Given the description of an element on the screen output the (x, y) to click on. 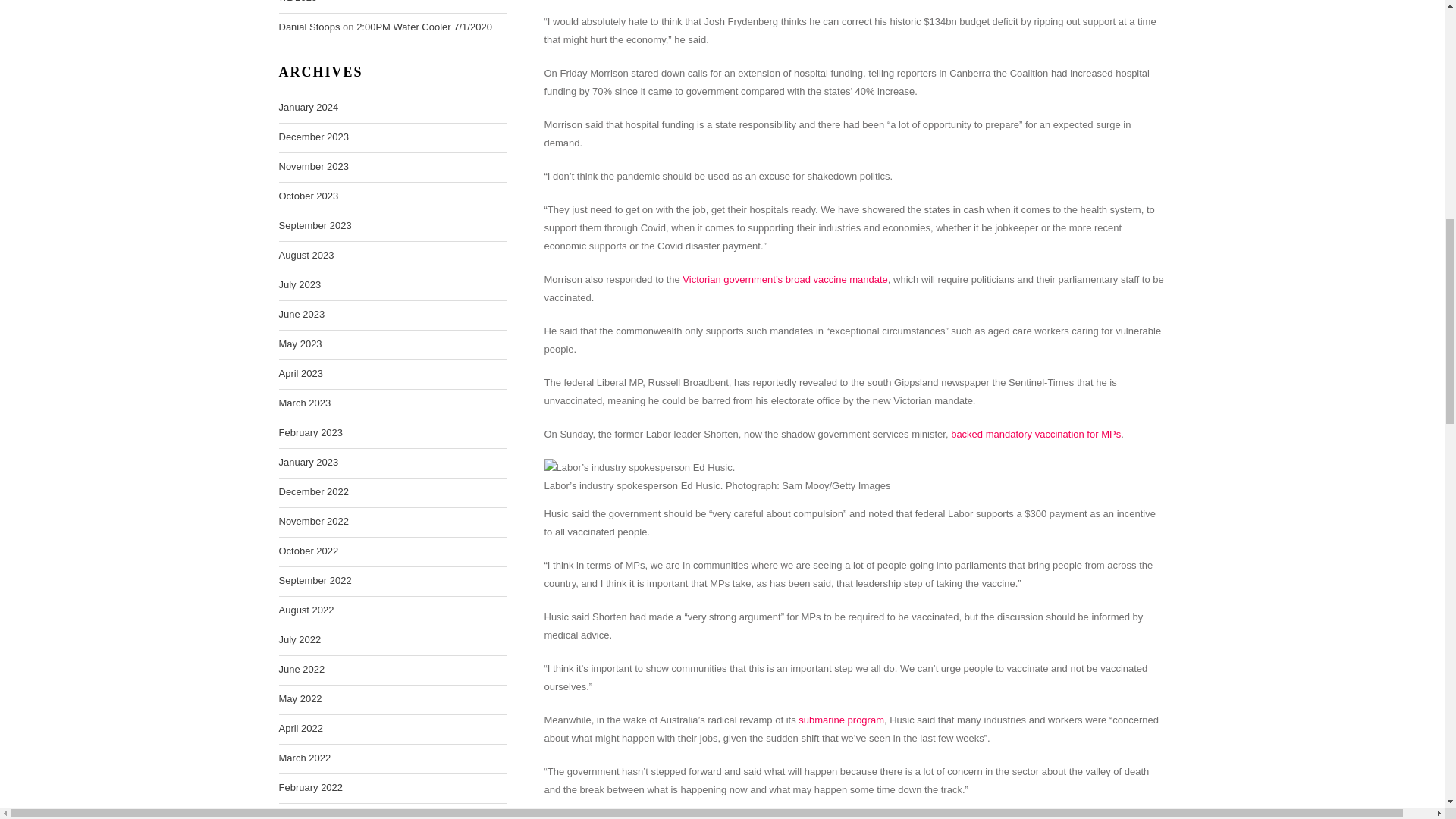
November 2023 (314, 167)
December 2023 (314, 136)
January 2024 (309, 107)
backed mandatory vaccination for MPs (1035, 433)
October 2023 (309, 196)
June 2023 (301, 314)
Danial Stoops (309, 26)
August 2023 (306, 255)
September 2023 (315, 226)
submarine program (840, 719)
July 2023 (300, 285)
